Given the description of an element on the screen output the (x, y) to click on. 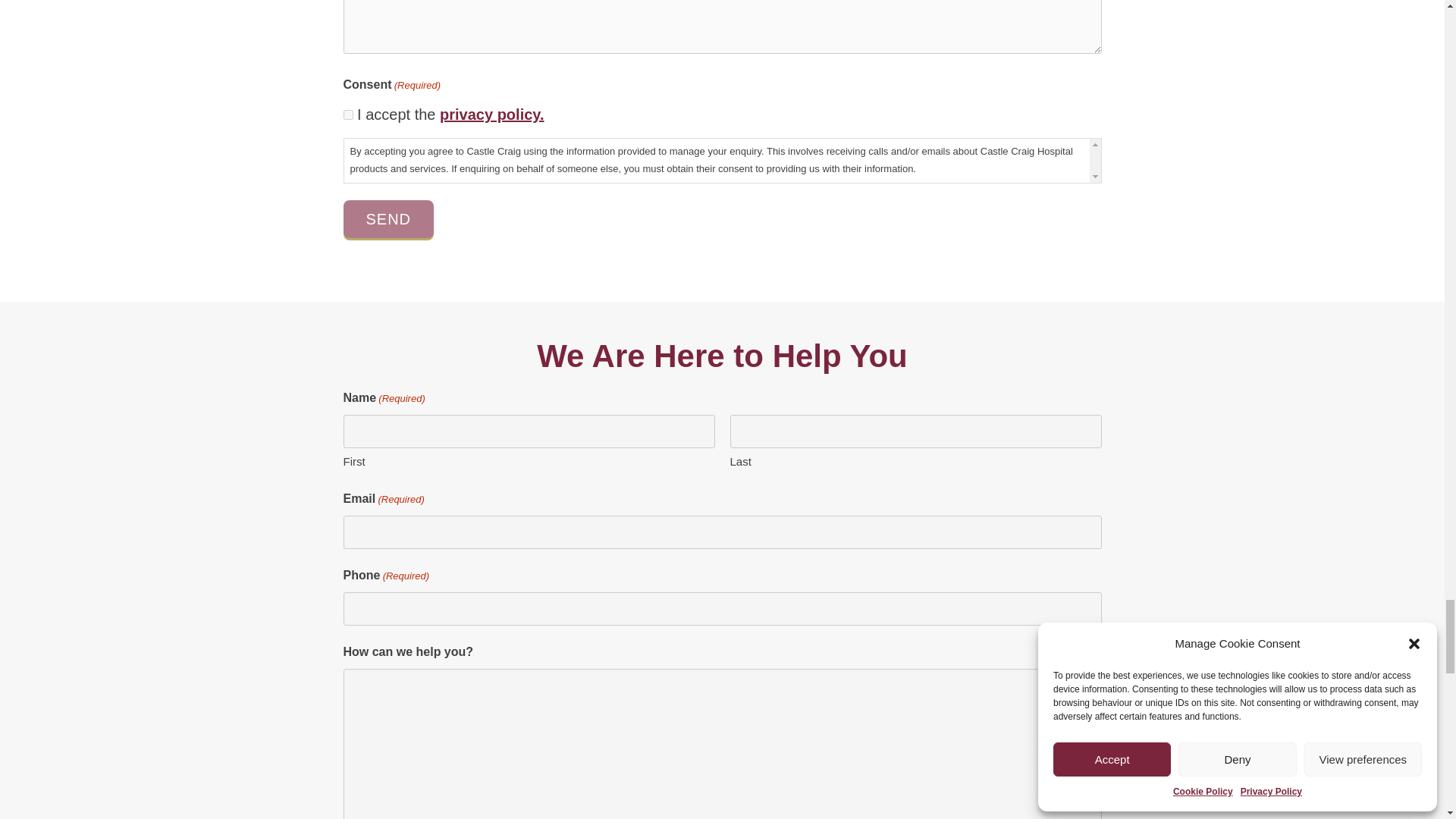
1 (347, 114)
Send (387, 218)
